Given the description of an element on the screen output the (x, y) to click on. 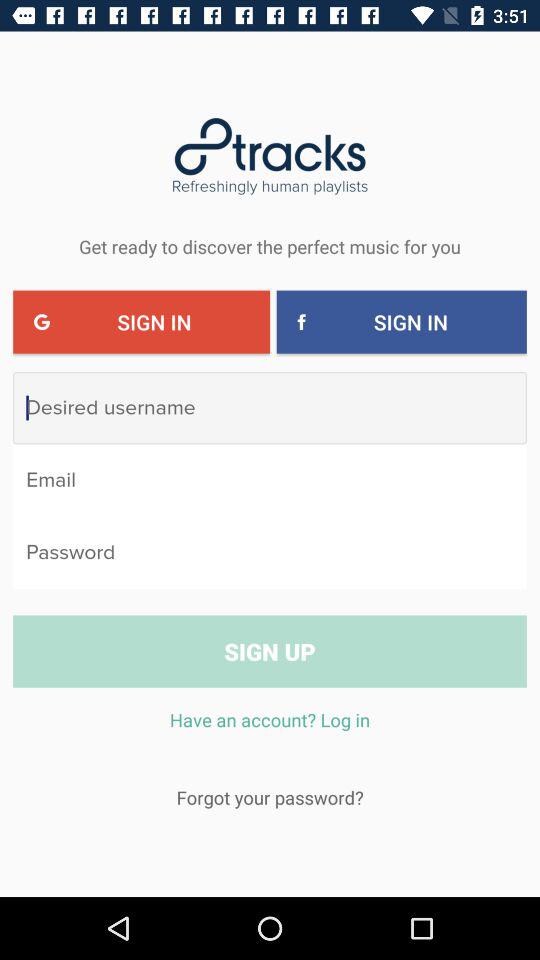
flip until the have an account item (269, 729)
